Given the description of an element on the screen output the (x, y) to click on. 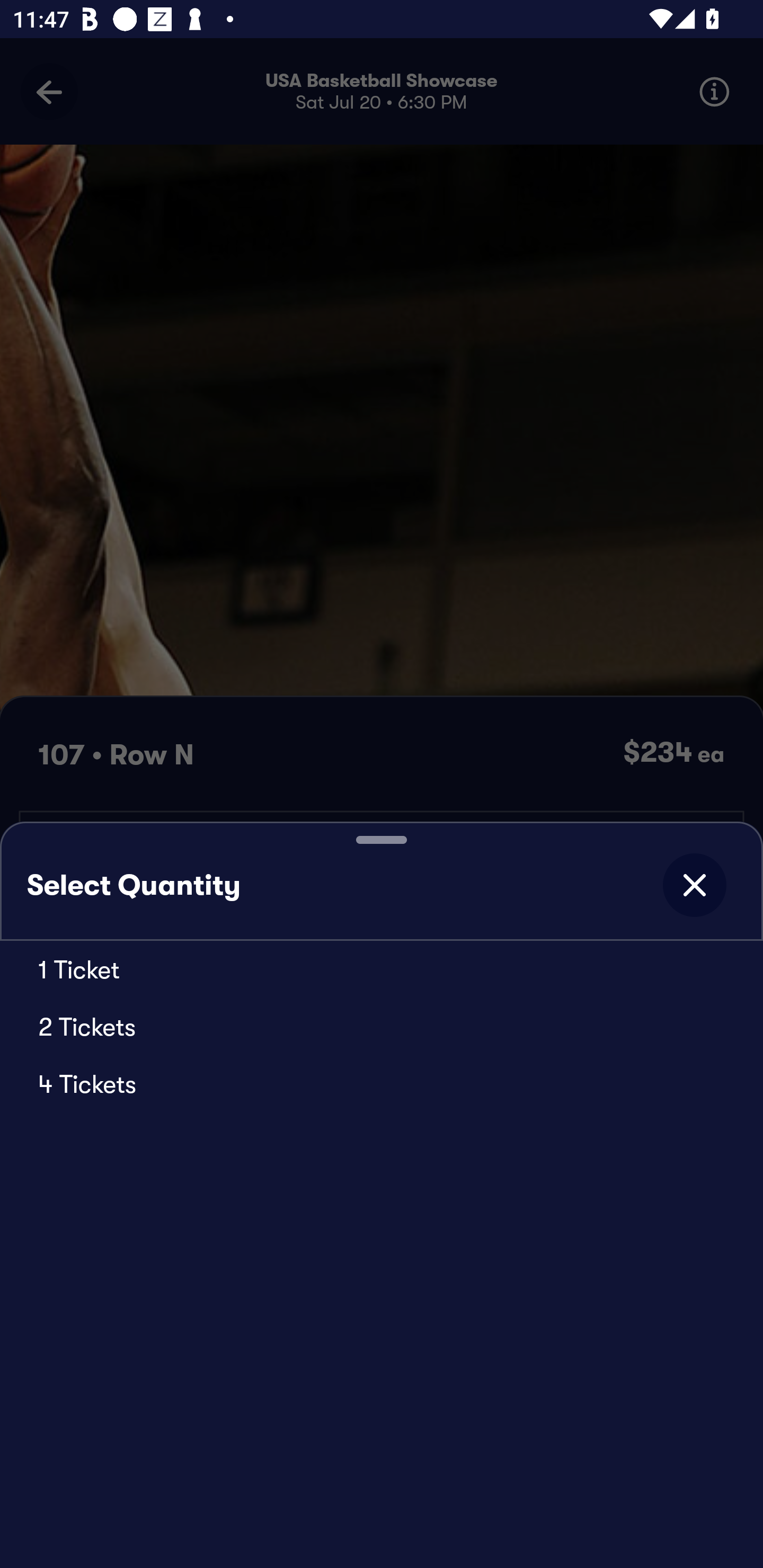
close (694, 884)
1 Ticket (381, 968)
2 Tickets (381, 1026)
4 Tickets (381, 1083)
